Given the description of an element on the screen output the (x, y) to click on. 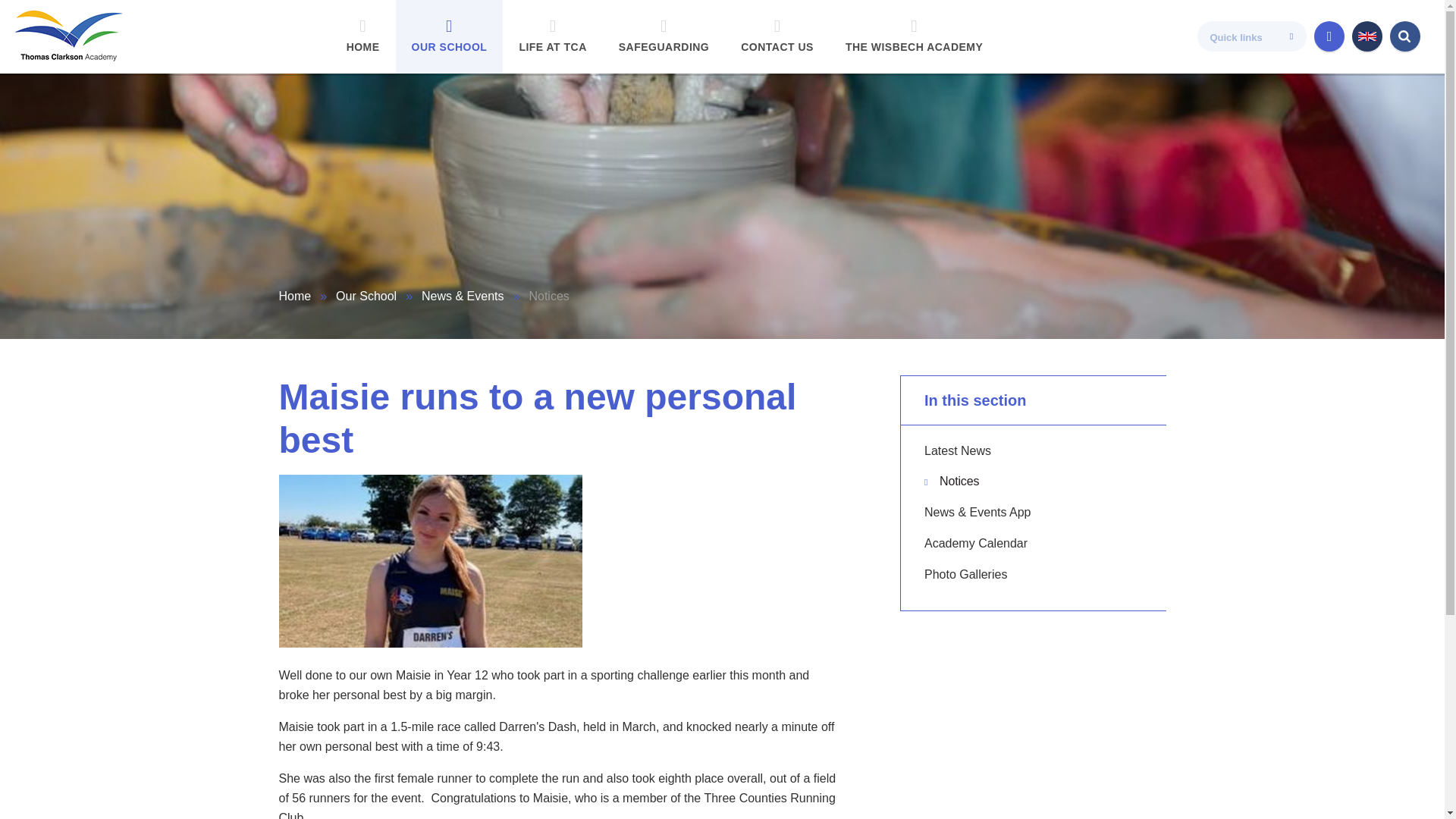
OUR SCHOOL (449, 36)
